Given the description of an element on the screen output the (x, y) to click on. 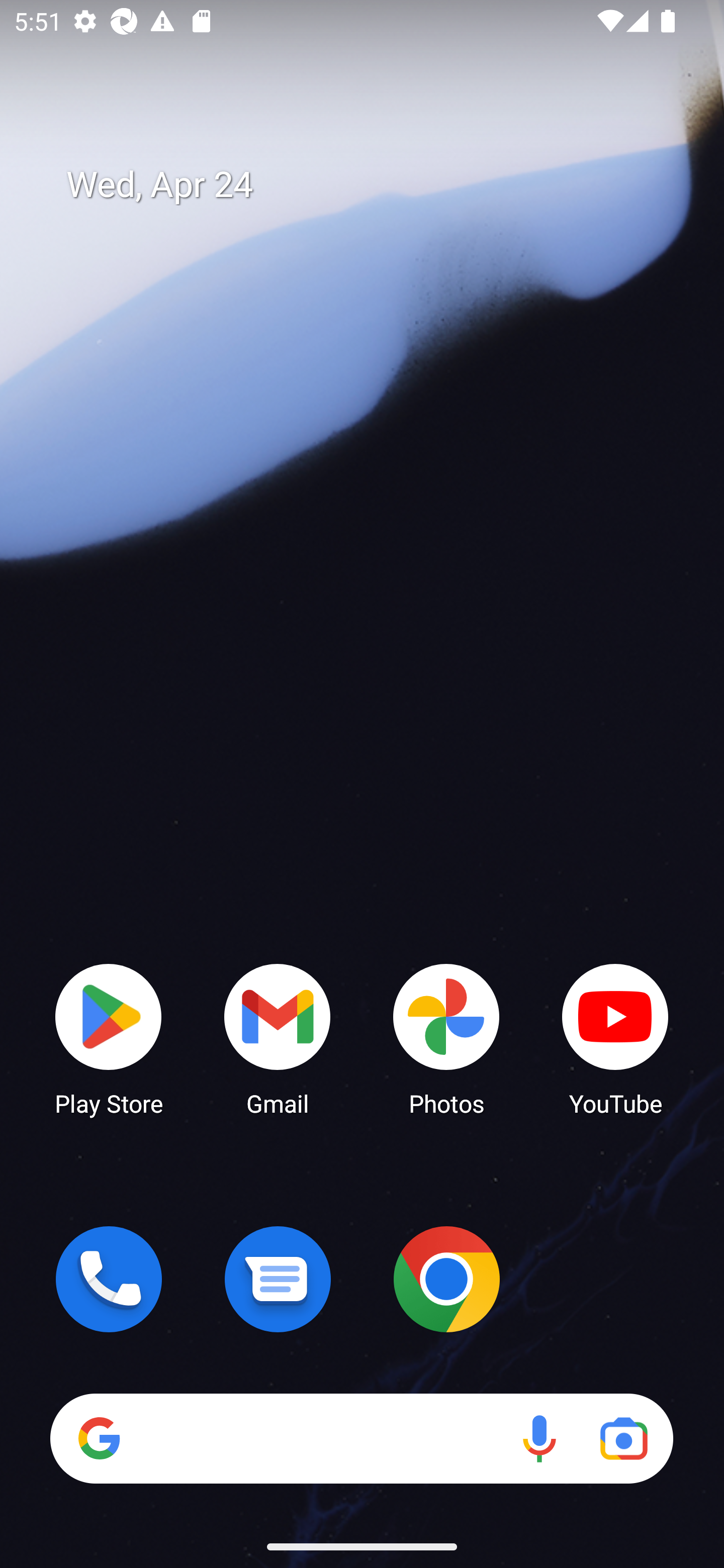
Wed, Apr 24 (375, 184)
Play Store (108, 1038)
Gmail (277, 1038)
Photos (445, 1038)
YouTube (615, 1038)
Phone (108, 1279)
Messages (277, 1279)
Chrome (446, 1279)
Search Voice search Google Lens (361, 1438)
Voice search (539, 1438)
Google Lens (623, 1438)
